Given the description of an element on the screen output the (x, y) to click on. 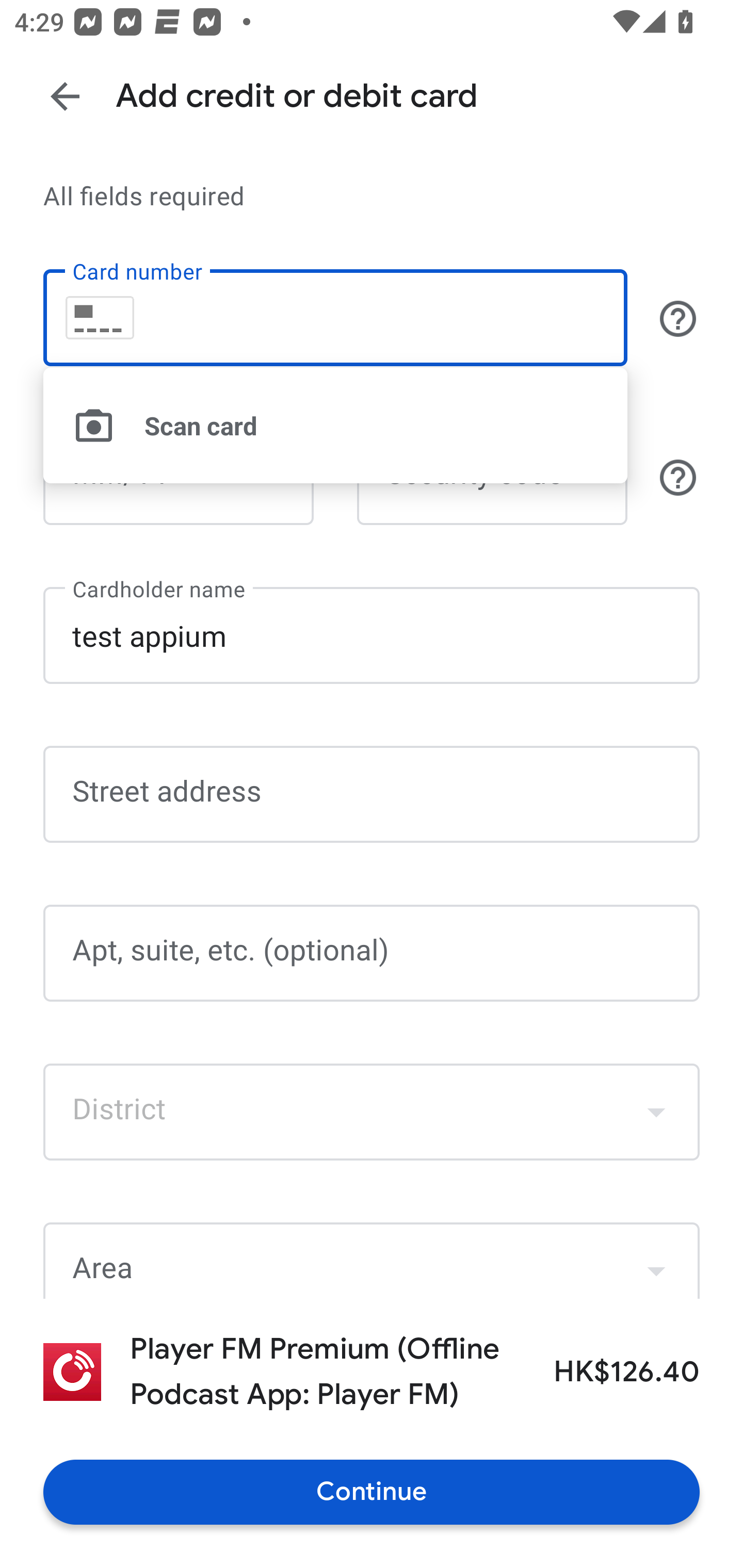
Back (64, 96)
Card number (335, 317)
Button, shows cards that are accepted for payment (677, 318)
Security code help (677, 477)
test appium (371, 634)
Street address (371, 794)
Apt, suite, etc. (optional) (371, 952)
District (371, 1111)
Show dropdown menu (655, 1112)
Area (371, 1260)
Show dropdown menu (655, 1262)
Continue (371, 1491)
